Given the description of an element on the screen output the (x, y) to click on. 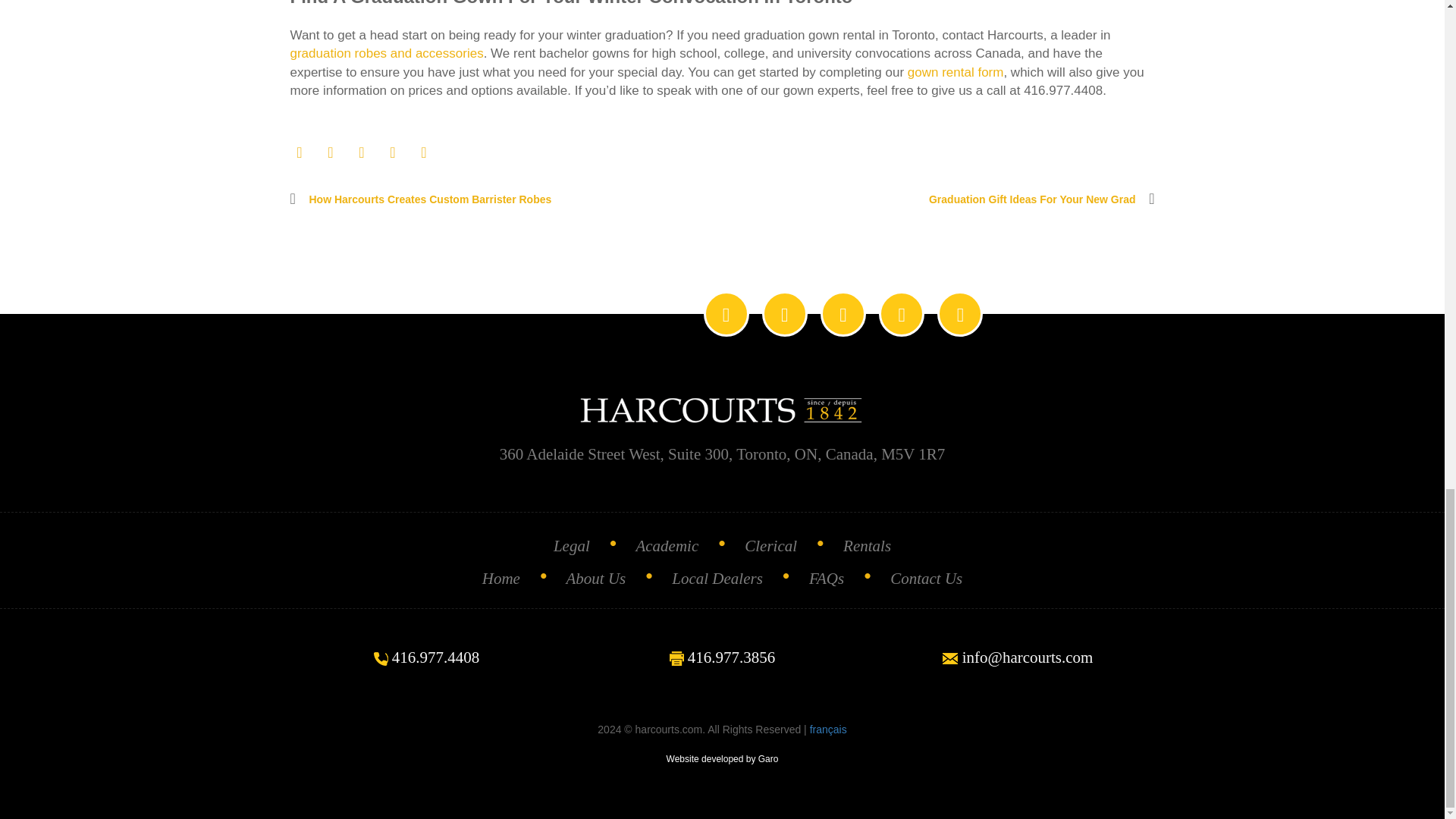
Share on Facebook (298, 152)
Share on LinkedIn (393, 152)
Share on Pinterest (422, 152)
Share on Twitter (330, 152)
